Given the description of an element on the screen output the (x, y) to click on. 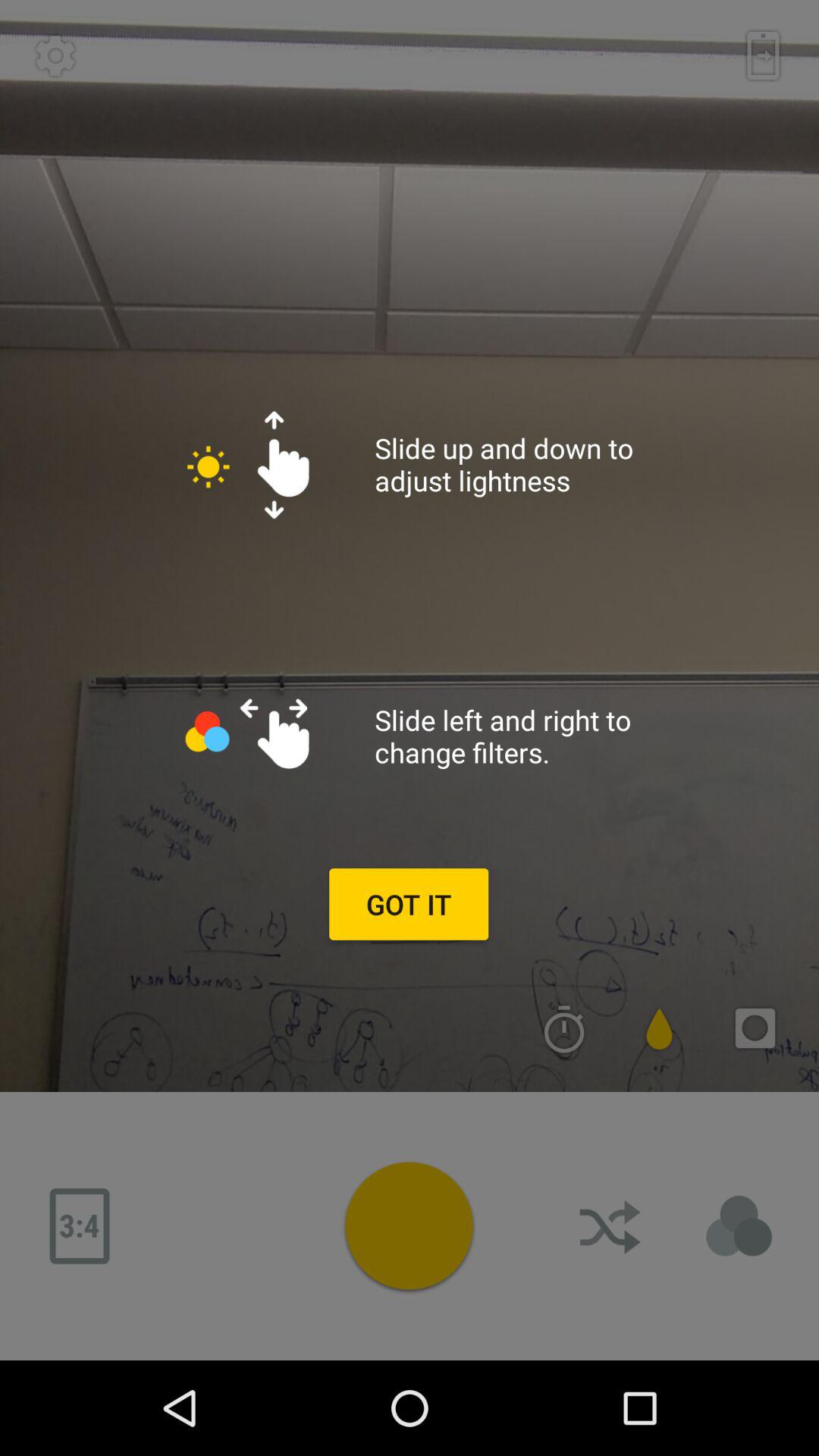
save (763, 55)
